Given the description of an element on the screen output the (x, y) to click on. 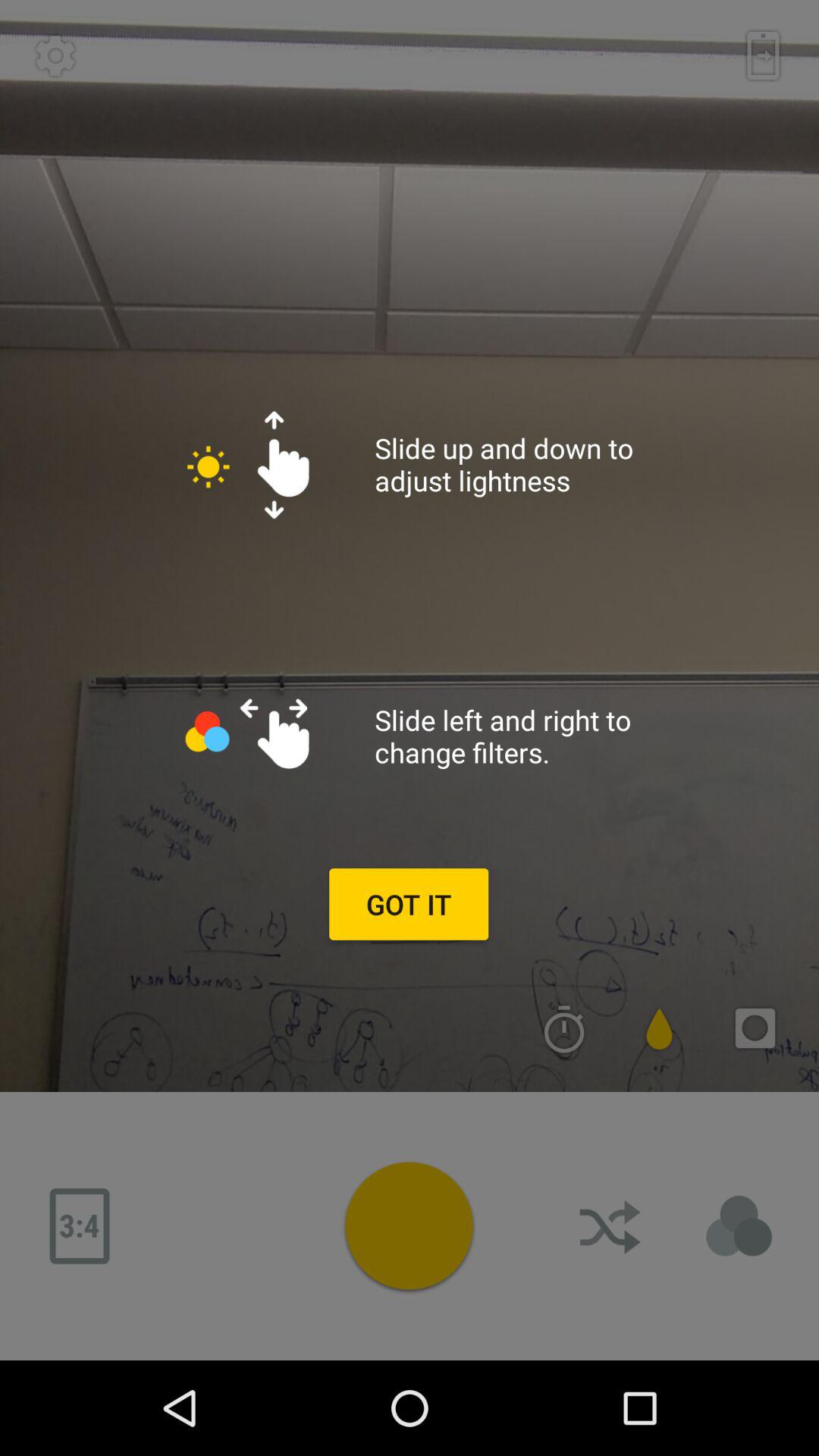
save (763, 55)
